Given the description of an element on the screen output the (x, y) to click on. 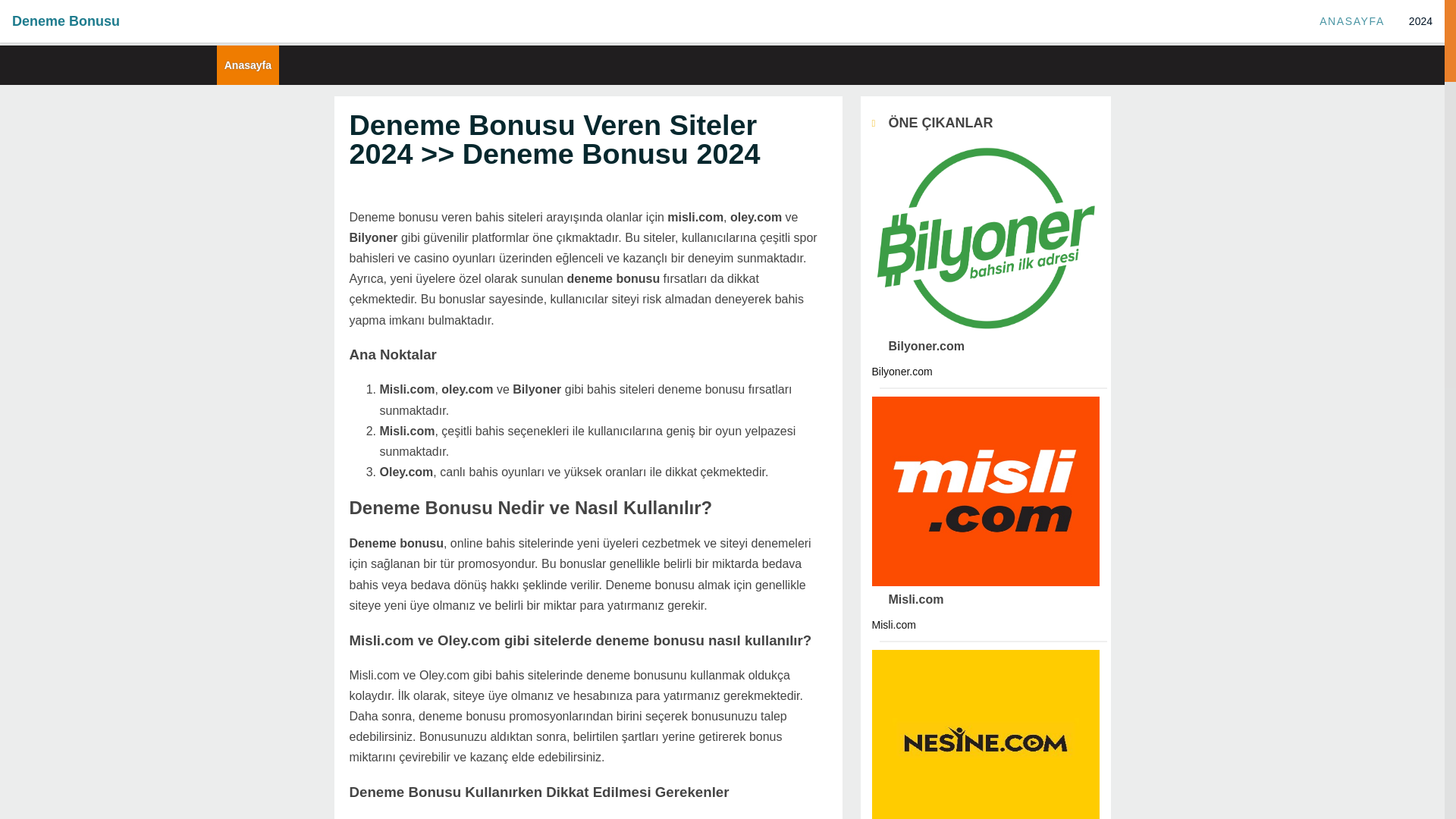
Misli.com (907, 599)
ANASAYFA (1351, 21)
misli.com (907, 599)
Anasayfa (247, 64)
Bilyoner.com (917, 346)
Bilyoner.com (917, 346)
Deneme Bonusu (65, 21)
